Given the description of an element on the screen output the (x, y) to click on. 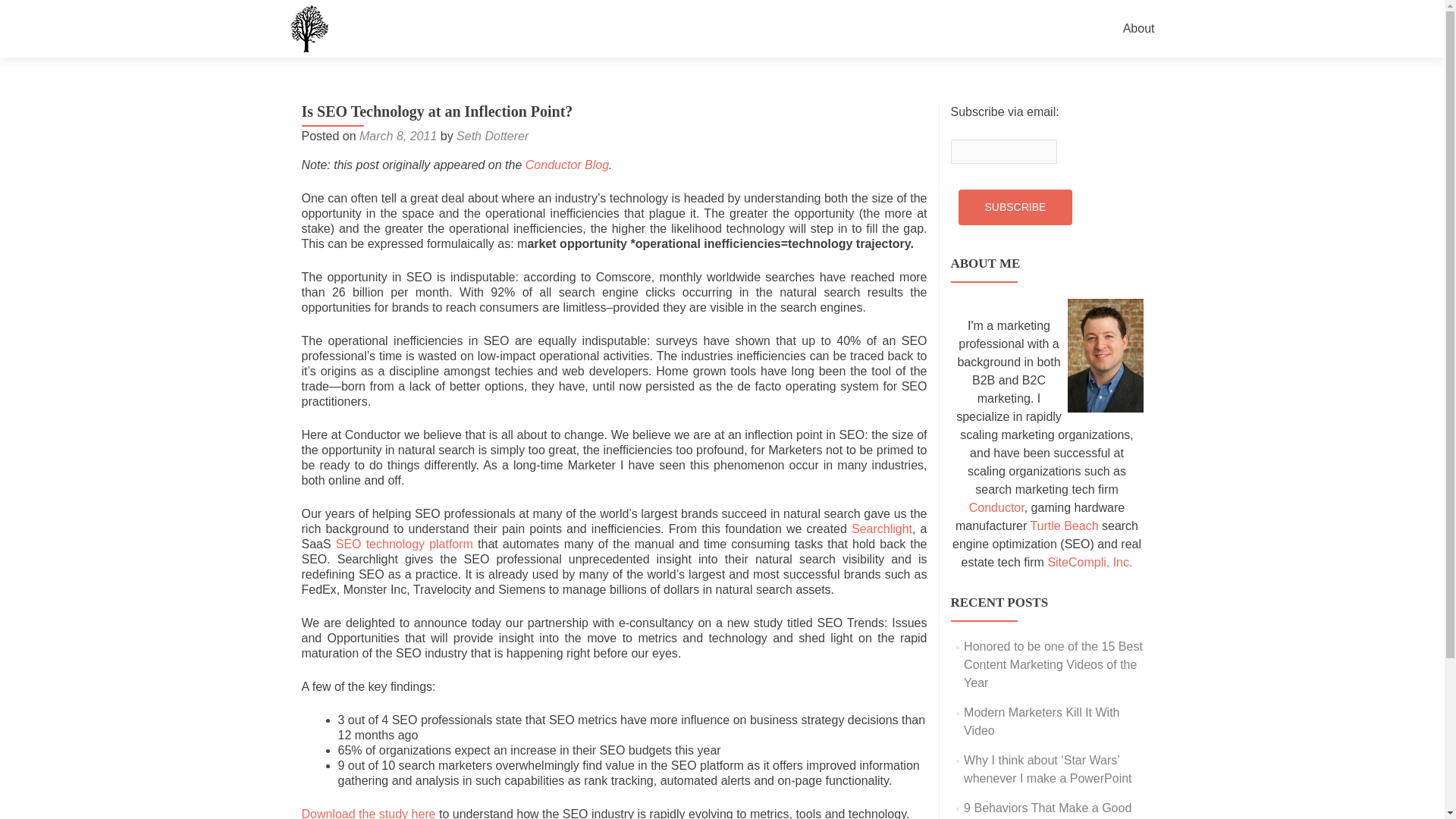
March 8, 2011 (397, 135)
Searchlight (881, 528)
9 Behaviors That Make a Good Manager Into a Great Leader (1047, 810)
SiteCompli, Inc. (1089, 562)
About (1138, 28)
Turtle Beach (1063, 525)
Seth Dotterer (492, 135)
Subscribe (1015, 207)
Subscribe (1015, 207)
SEO technology platform (406, 543)
Modern Marketers Kill It With Video (1041, 721)
Download the study here (368, 813)
Conductor Blog (566, 164)
Conductor (997, 507)
